Given the description of an element on the screen output the (x, y) to click on. 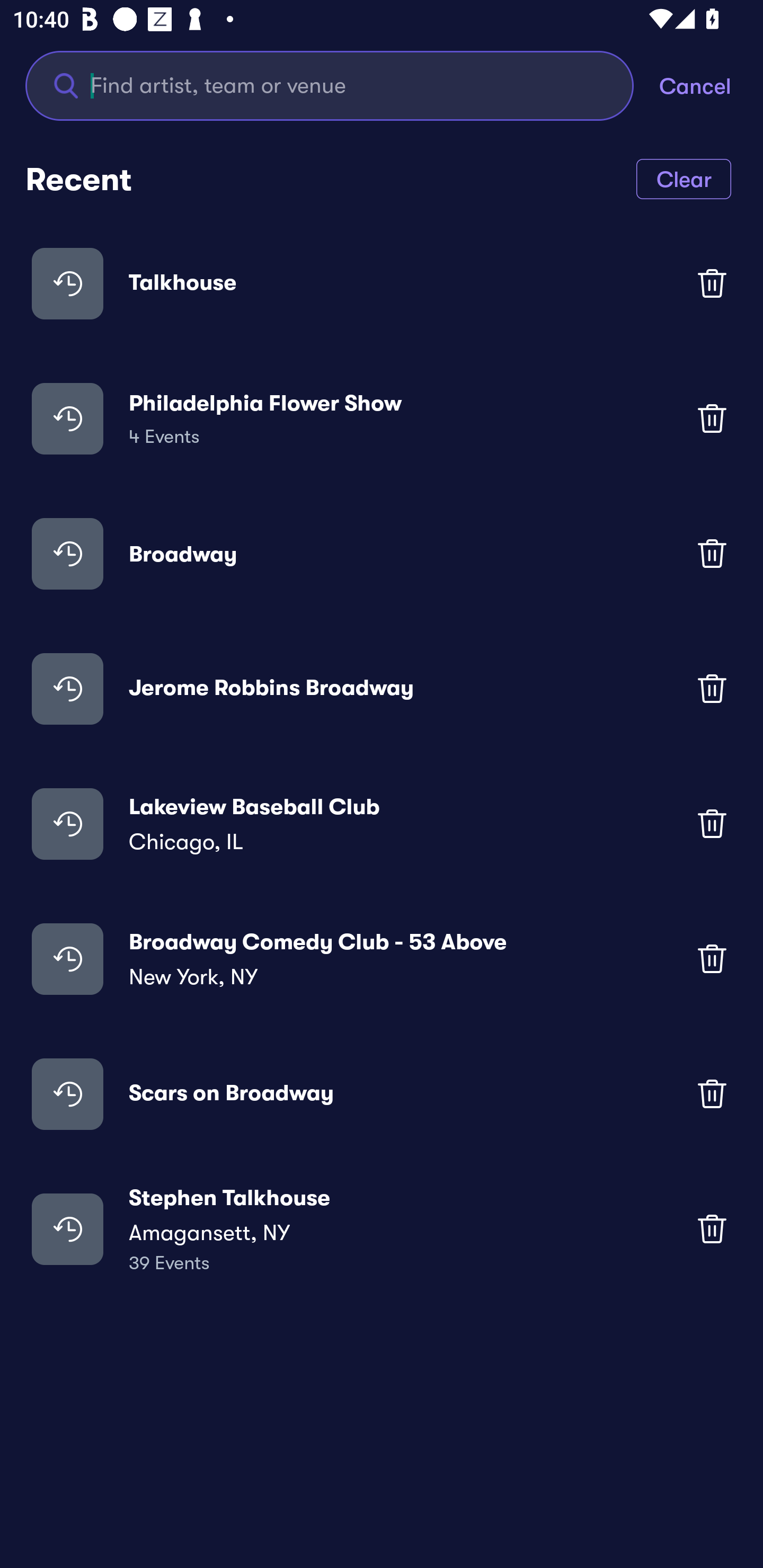
Cancel (711, 85)
Find artist, team or venue Find (329, 85)
Find artist, team or venue Find (341, 85)
Clear (683, 178)
Talkhouse (381, 282)
Philadelphia Flower Show 4 Events (381, 417)
Broadway (381, 553)
Jerome Robbins Broadway (381, 688)
Lakeview Baseball Club Chicago, IL (381, 823)
Broadway Comedy Club - 53 Above New York, NY (381, 958)
Scars on Broadway (381, 1093)
Stephen Talkhouse Amagansett, NY 39 Events (381, 1228)
